Given the description of an element on the screen output the (x, y) to click on. 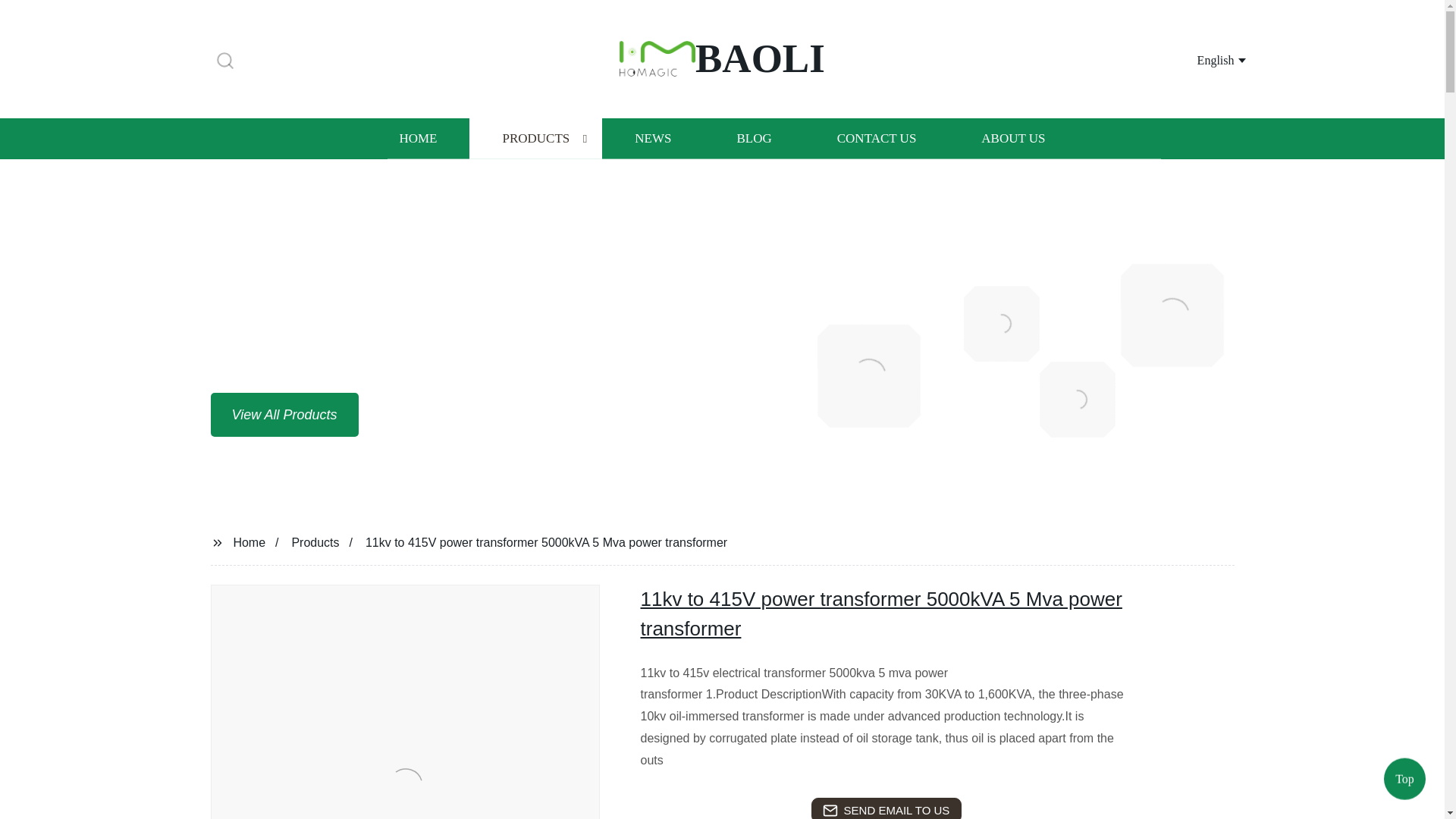
Top (1404, 775)
ABOUT US (1013, 137)
HOME (417, 137)
NEWS (652, 137)
English (1203, 59)
Products (315, 541)
CONTACT US (877, 137)
SEND EMAIL TO US (885, 808)
BLOG (753, 137)
English (1203, 59)
Home (248, 541)
PRODUCTS (535, 137)
